Given the description of an element on the screen output the (x, y) to click on. 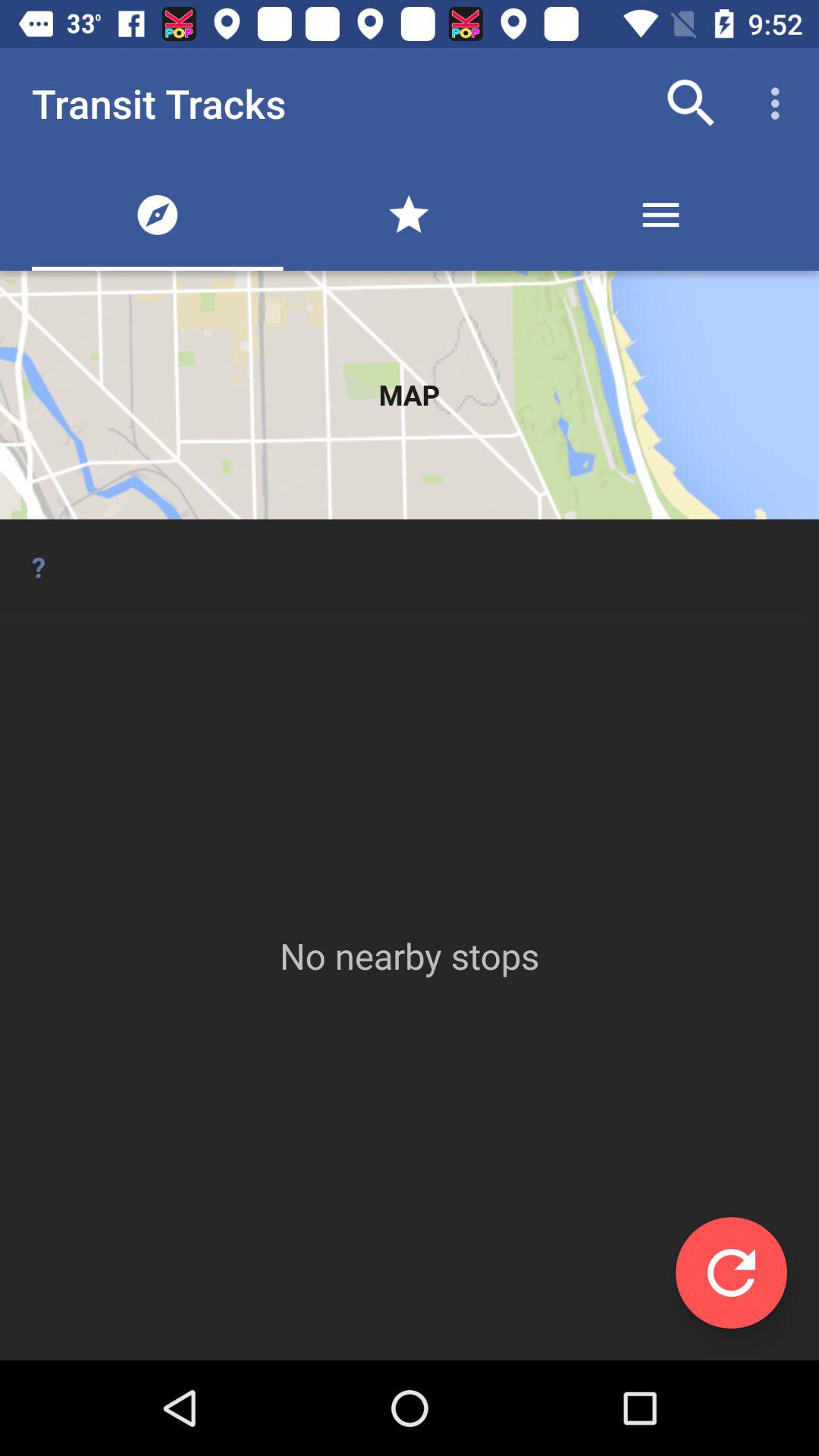
refresh page (731, 1272)
